Given the description of an element on the screen output the (x, y) to click on. 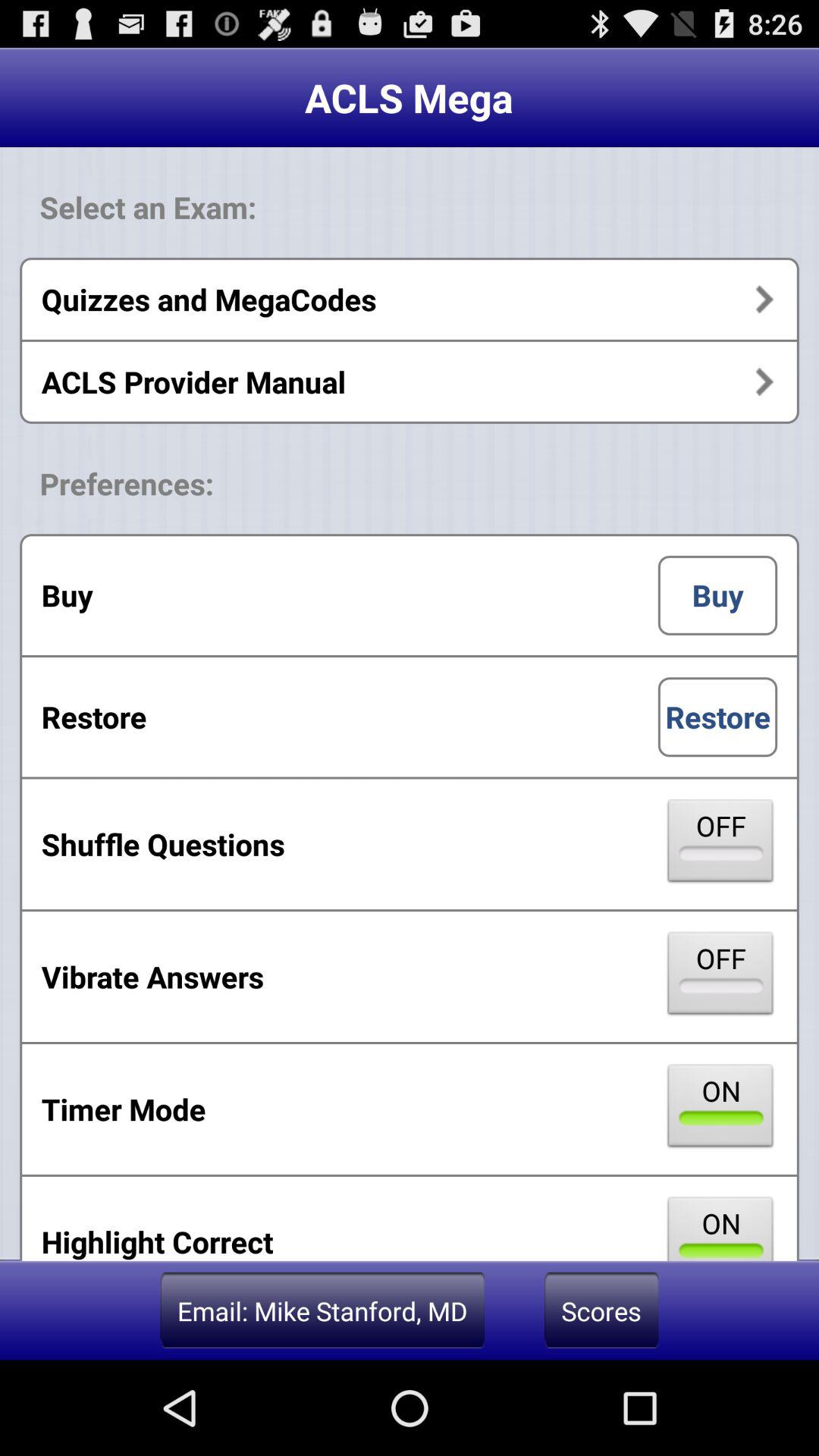
open the app below highlight correct app (322, 1310)
